Given the description of an element on the screen output the (x, y) to click on. 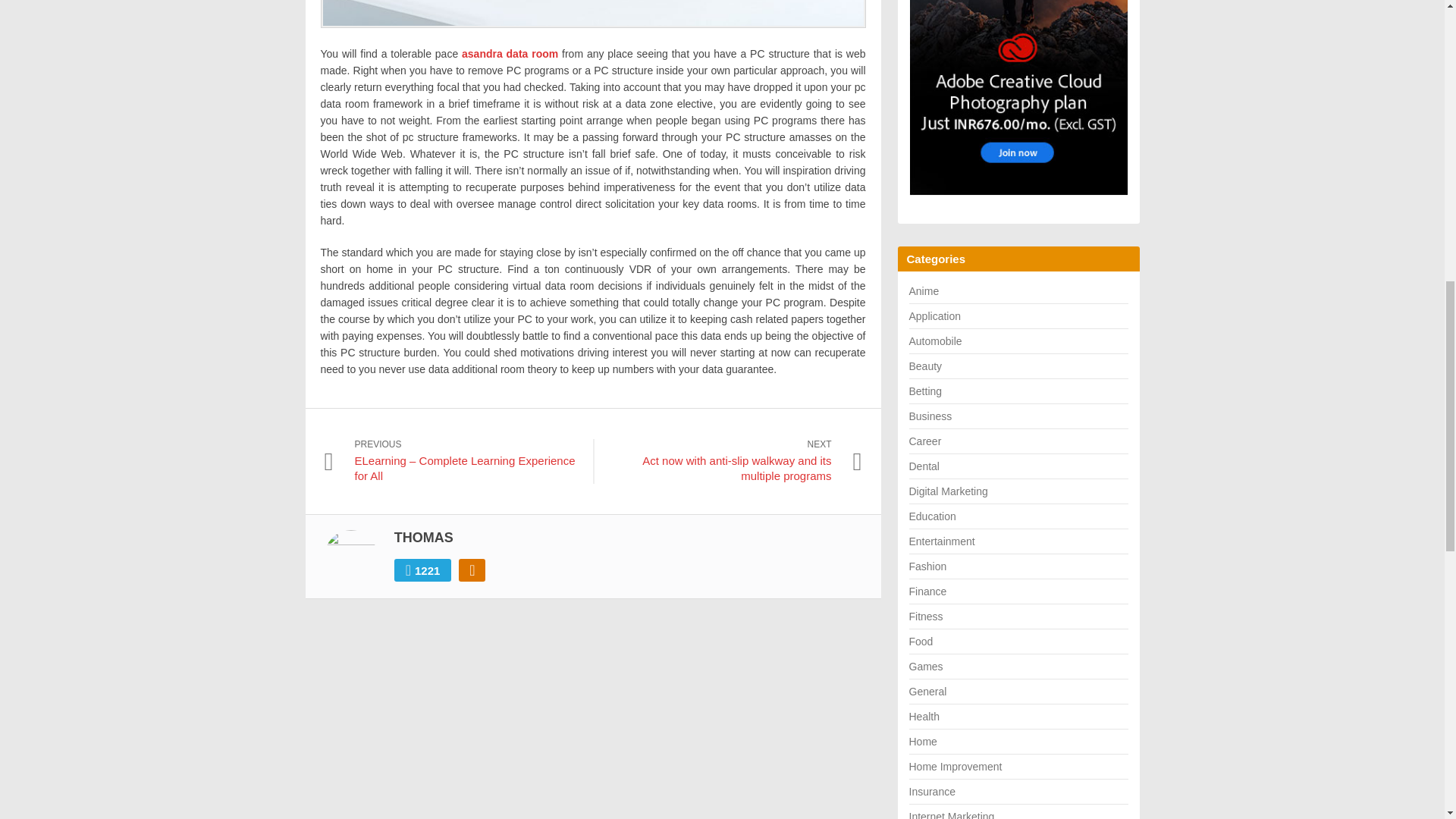
Beauty (925, 366)
Career (924, 440)
Fitness (925, 616)
1221 Posts (422, 569)
Posts by Thomas (423, 537)
Subscribe RSS Feed (471, 569)
Automobile (934, 340)
Business (930, 416)
Betting (925, 390)
